Given the description of an element on the screen output the (x, y) to click on. 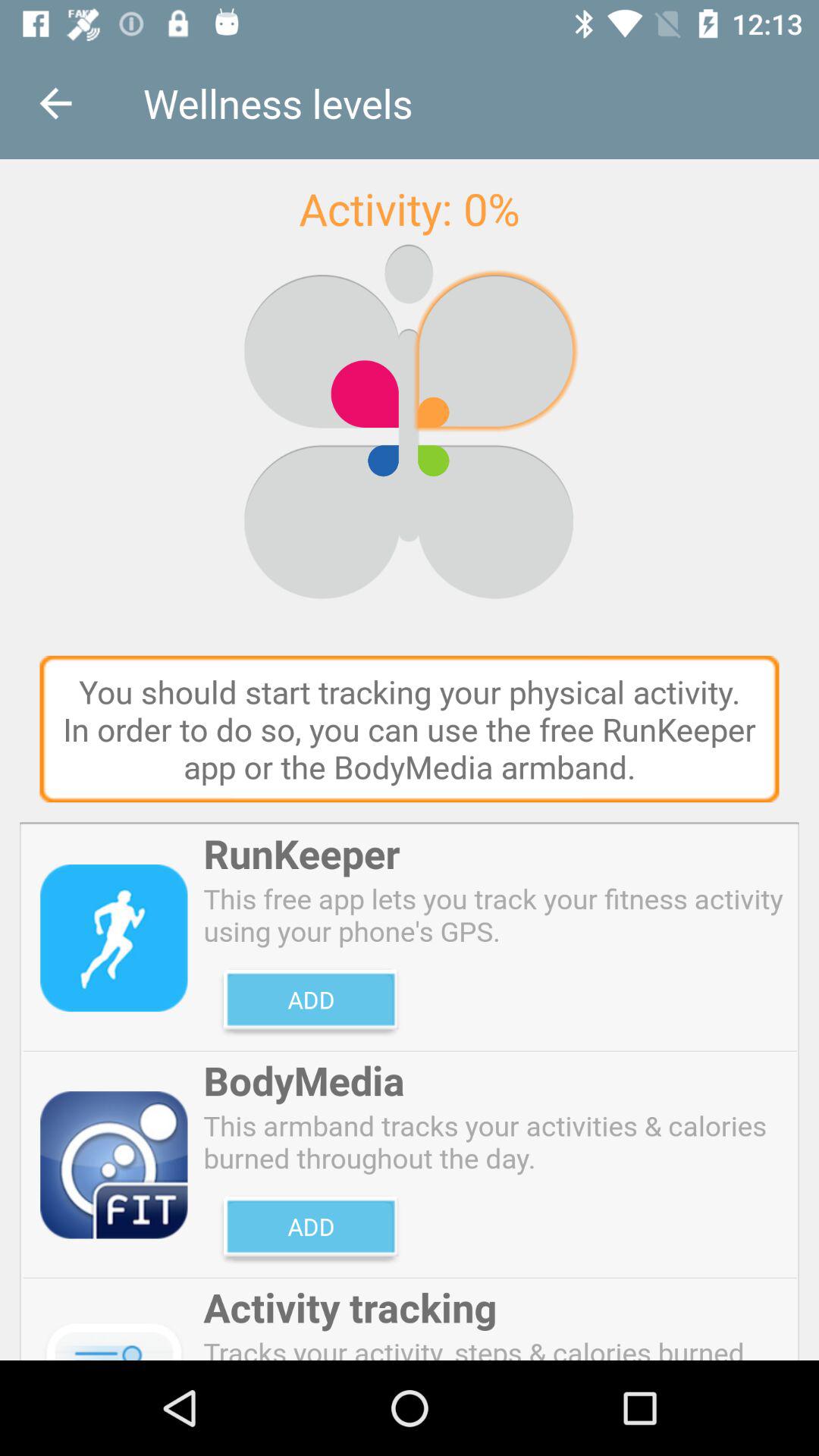
press app to the left of wellness levels app (55, 103)
